Given the description of an element on the screen output the (x, y) to click on. 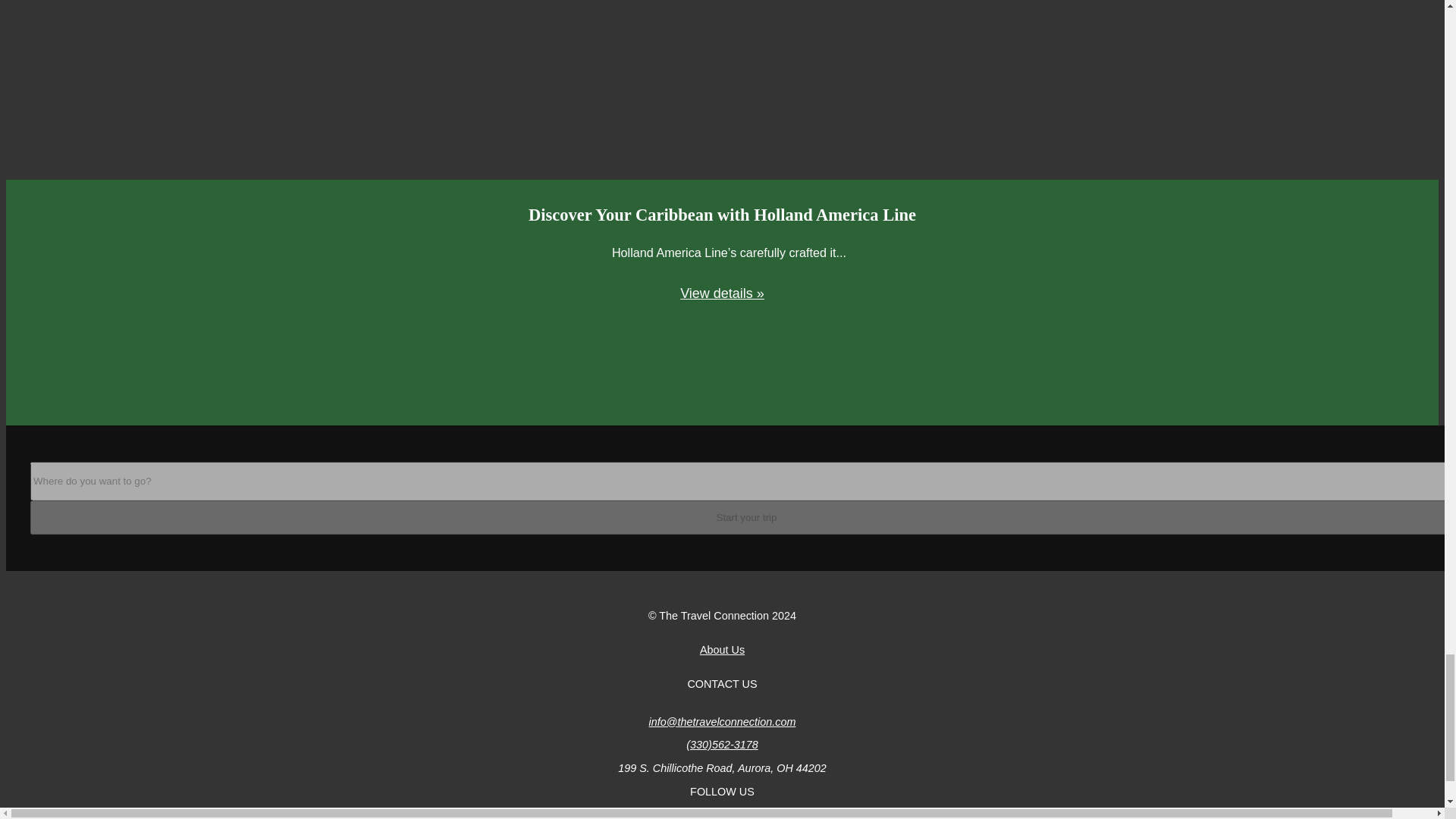
About Us (722, 649)
Start your trip (743, 517)
